Given the description of an element on the screen output the (x, y) to click on. 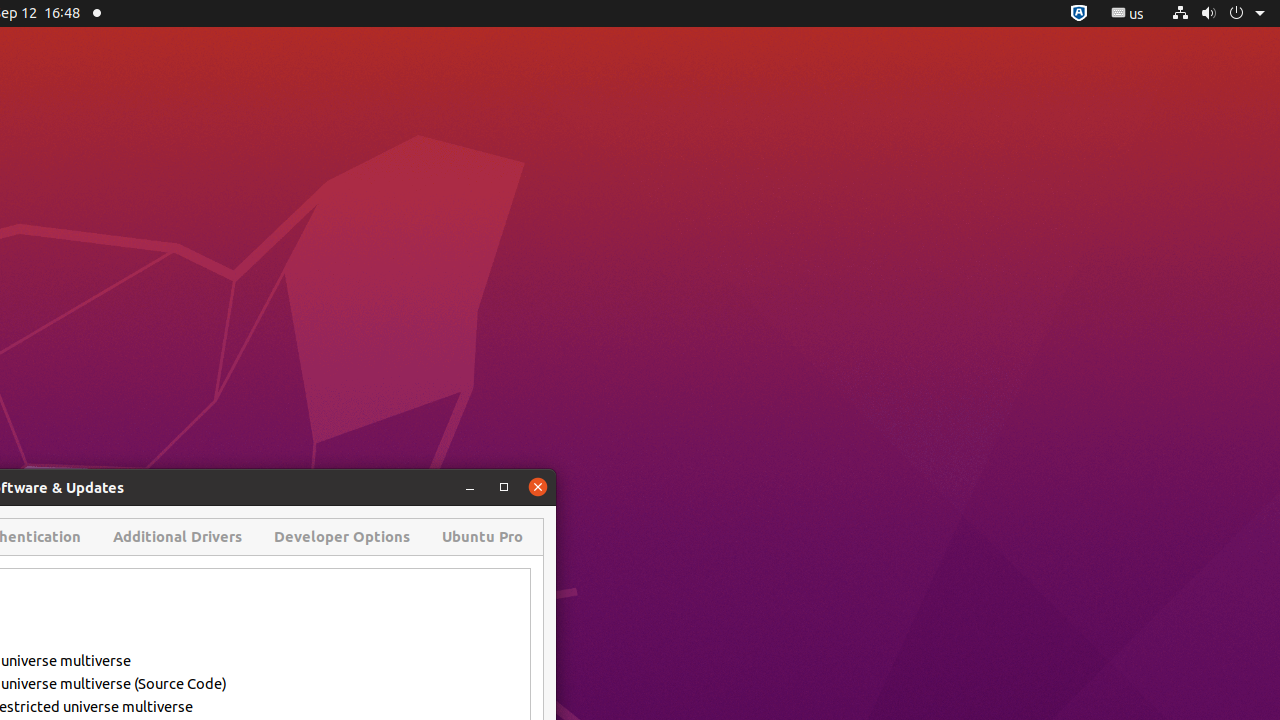
Ubuntu Pro Element type: page-tab (482, 537)
Additional Drivers Element type: page-tab (177, 537)
